Given the description of an element on the screen output the (x, y) to click on. 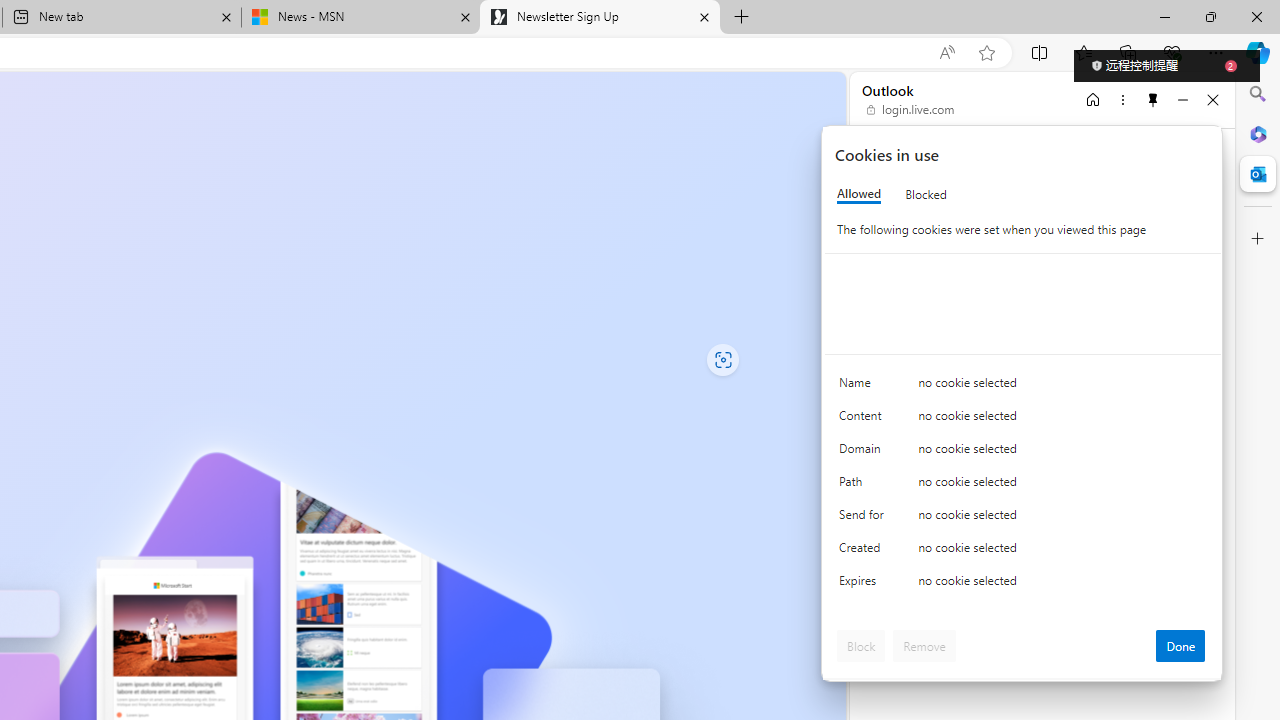
Expires (864, 585)
Created (864, 552)
Path (864, 485)
Blocked (925, 193)
Done (1179, 645)
no cookie selected (1062, 585)
